Given the description of an element on the screen output the (x, y) to click on. 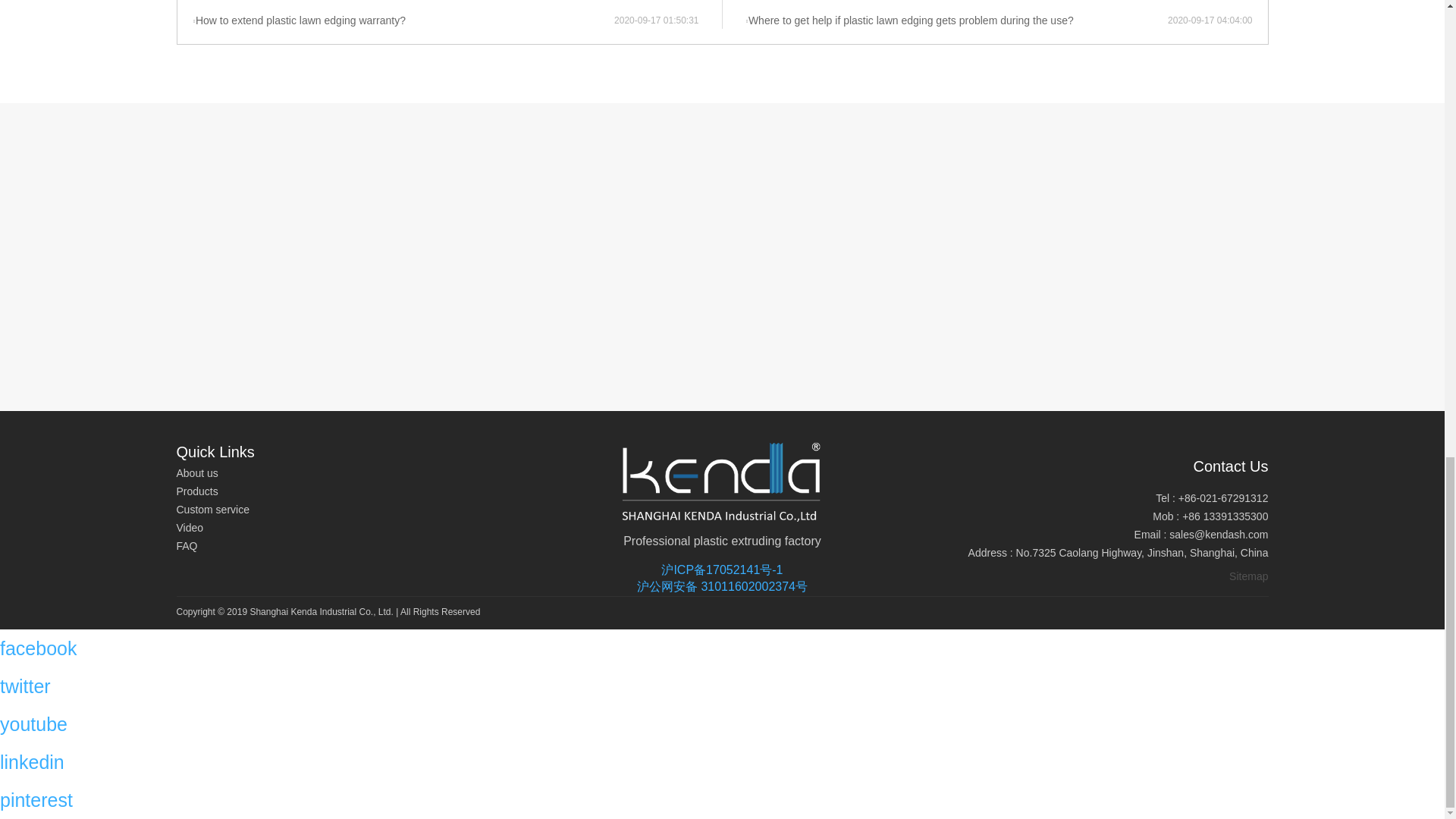
Quick Links (214, 452)
How to extend plastic lawn edging warranty? (403, 20)
About us (214, 474)
